Given the description of an element on the screen output the (x, y) to click on. 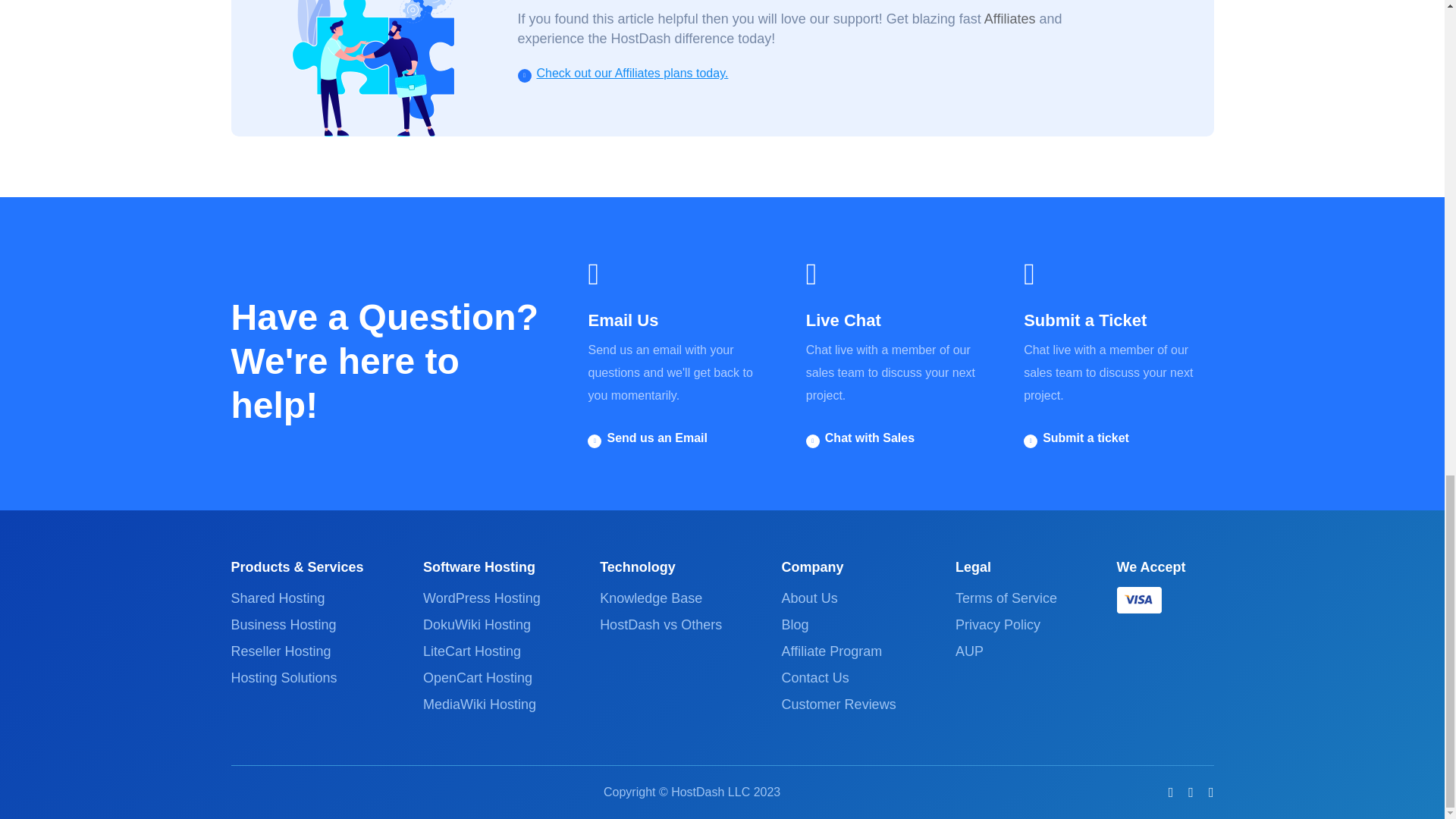
Blog (795, 624)
Submit a ticket (1085, 437)
Affiliate Program (831, 650)
Reseller Hosting (280, 650)
Affiliates (1009, 18)
About Us (809, 598)
Business Hosting (283, 624)
WordPress Hosting (481, 598)
MediaWiki Hosting (479, 704)
Chat with Sales (869, 437)
